Given the description of an element on the screen output the (x, y) to click on. 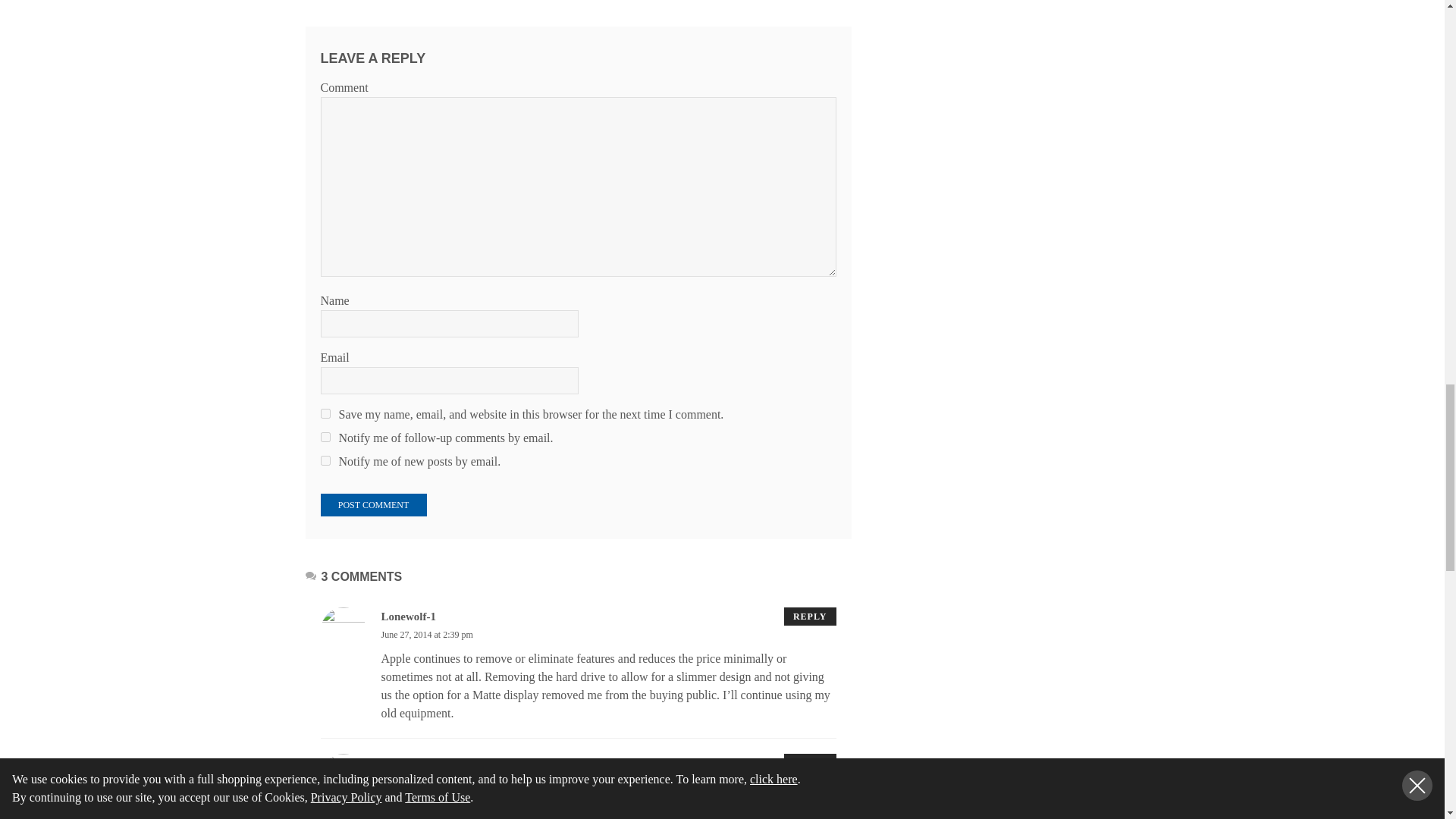
subscribe (325, 460)
yes (325, 413)
subscribe (325, 437)
Post Comment (373, 504)
